Given the description of an element on the screen output the (x, y) to click on. 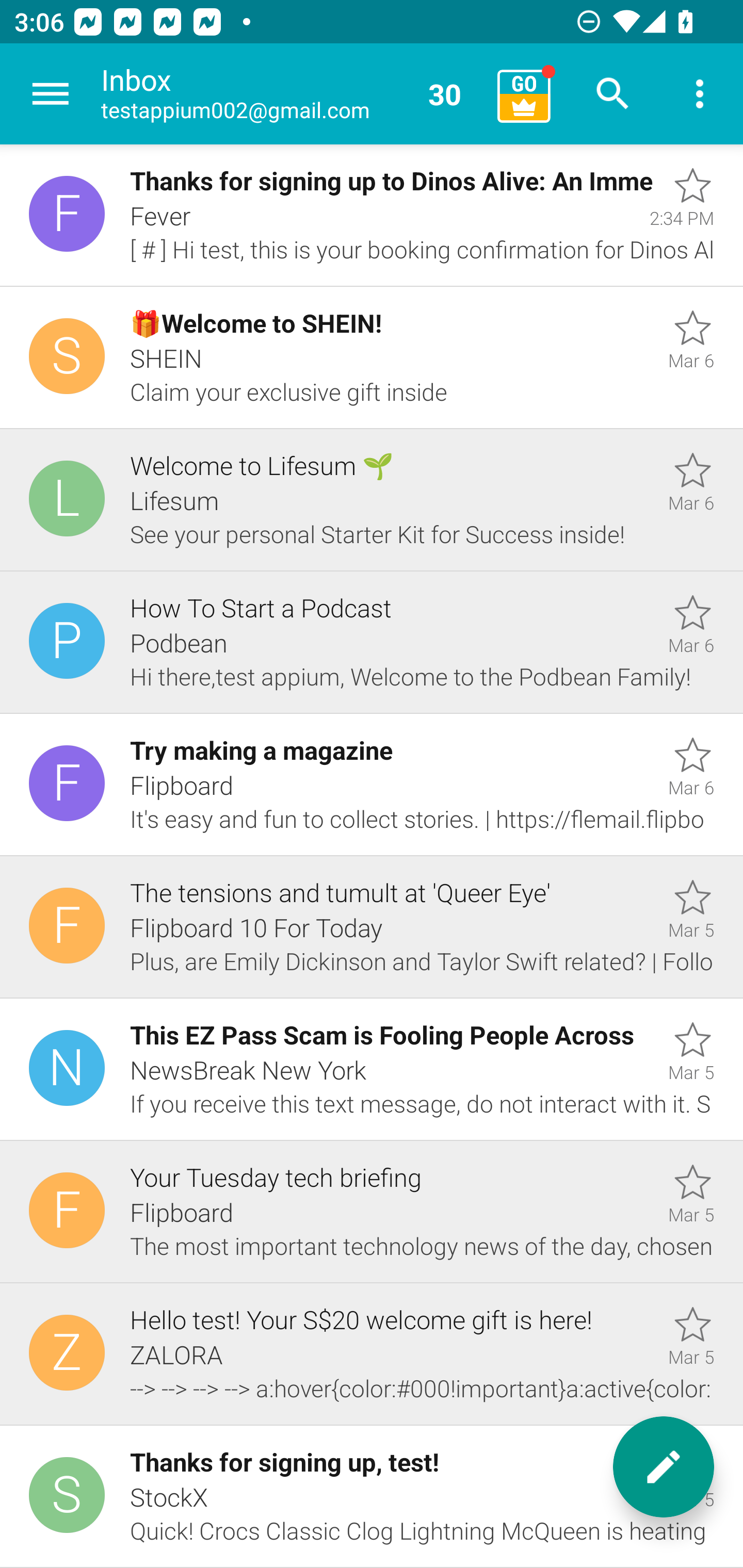
Navigate up (50, 93)
Inbox testappium002@gmail.com 30 (291, 93)
Search (612, 93)
More options (699, 93)
New message (663, 1466)
